Given the description of an element on the screen output the (x, y) to click on. 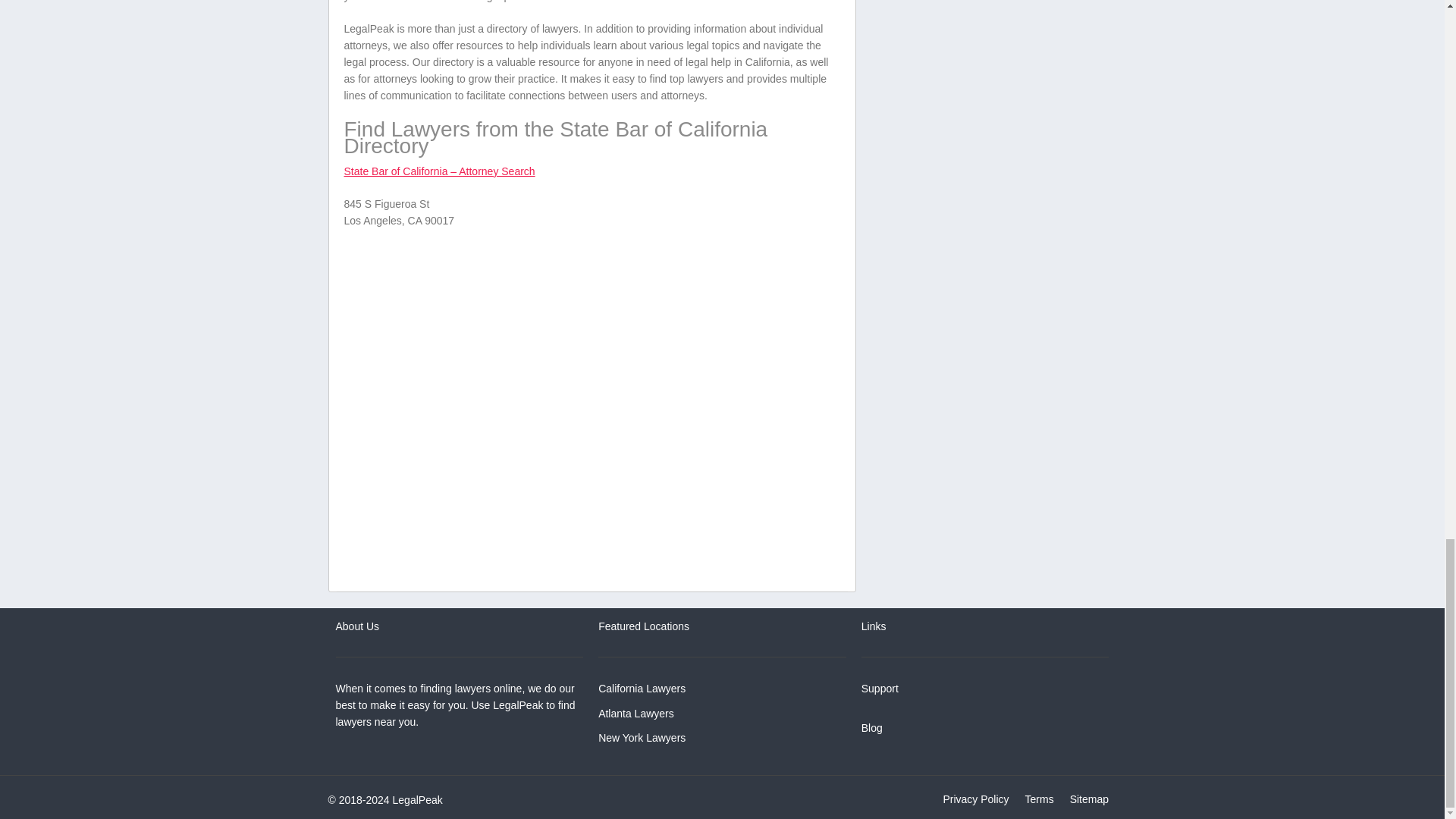
California Lawyers (641, 688)
Atlanta Lawyers (636, 713)
New York Lawyers (641, 737)
Support (879, 688)
